Given the description of an element on the screen output the (x, y) to click on. 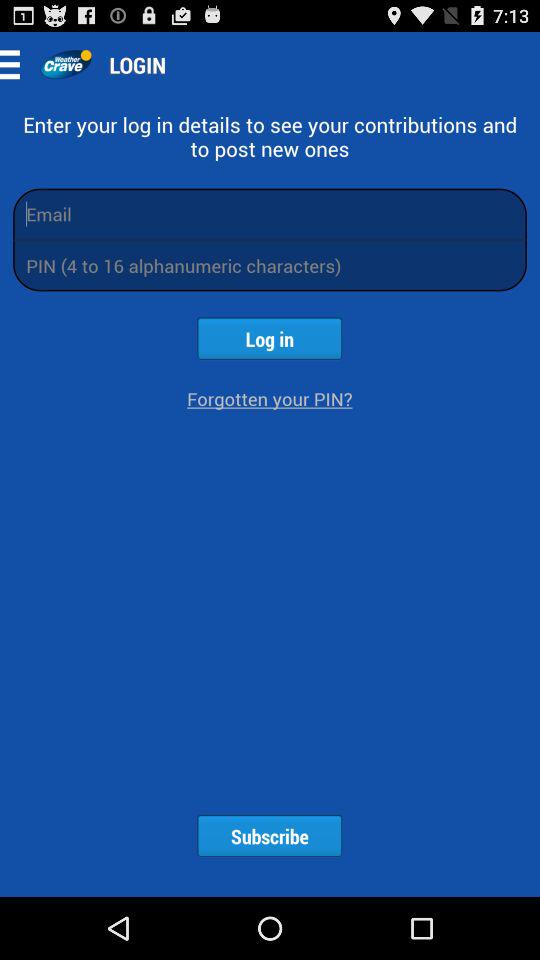
input your email (269, 213)
